Given the description of an element on the screen output the (x, y) to click on. 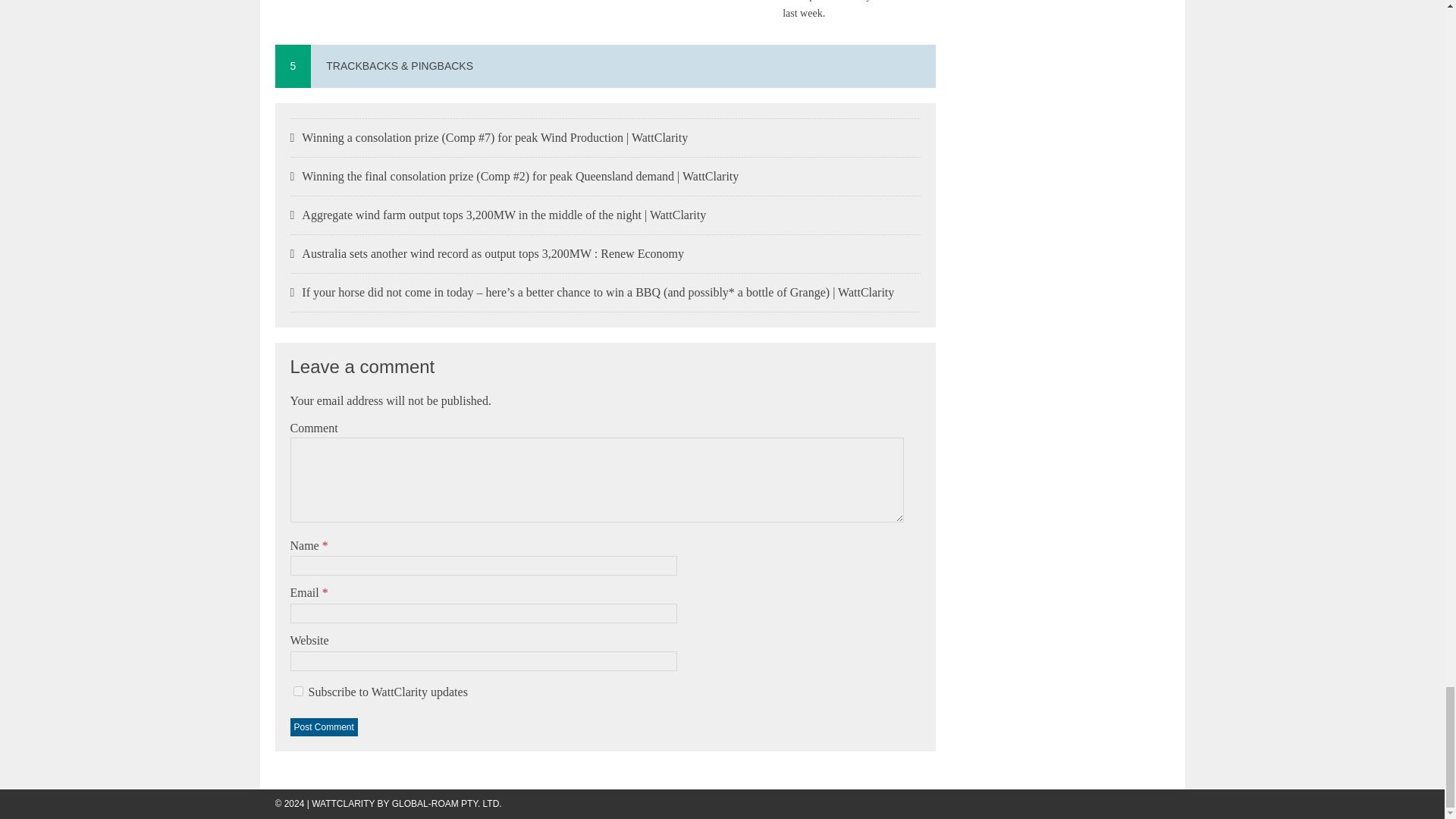
1 (297, 691)
Post Comment (322, 727)
